Given the description of an element on the screen output the (x, y) to click on. 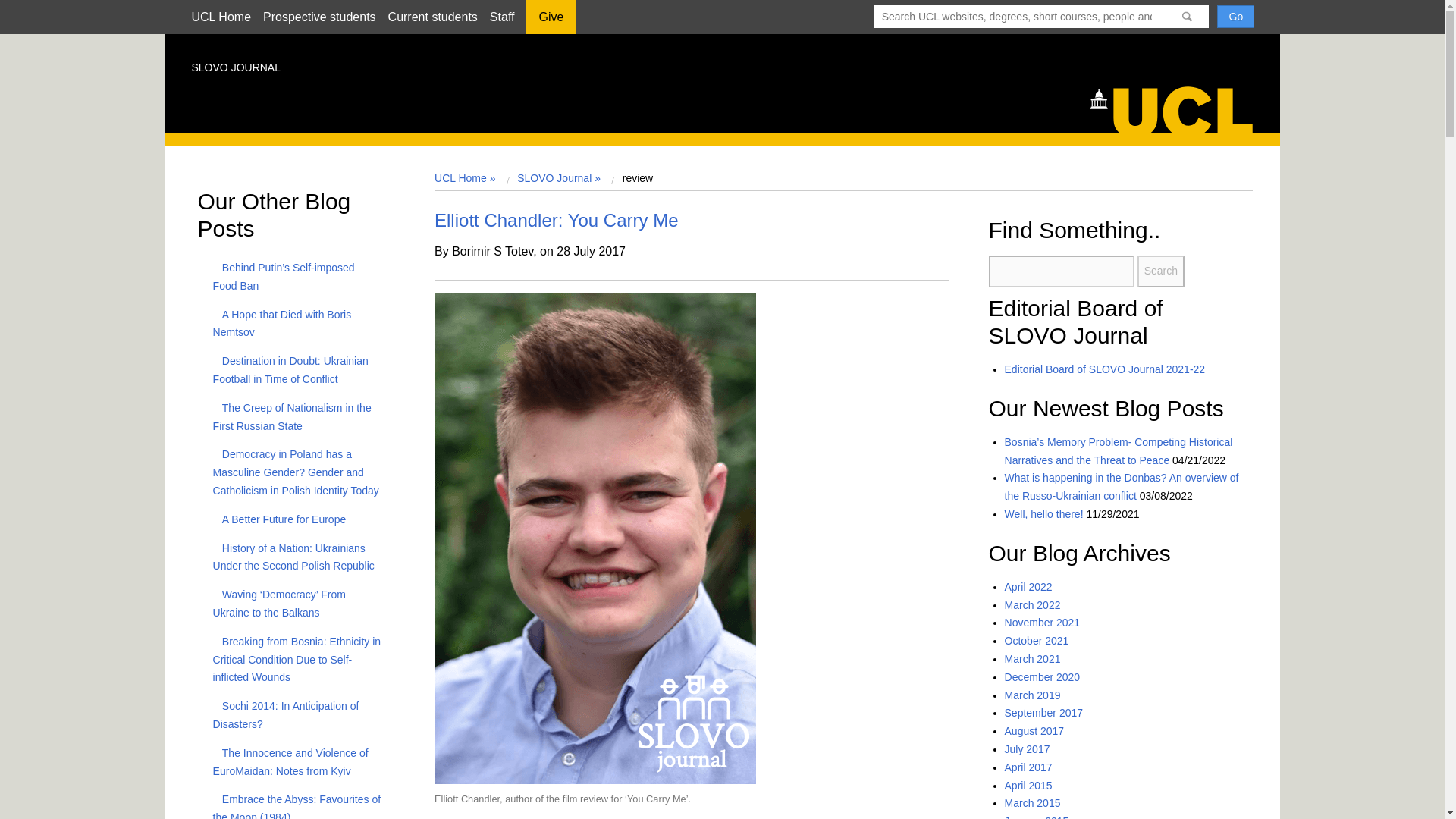
Go (1235, 15)
Prospective students (319, 16)
Current students (432, 16)
Give (550, 22)
Sochi 2014: In Anticipation of Disasters? (285, 715)
A Better Future for Europe (279, 519)
The Innocence and Violence of EuroMaidan: Notes from Kyiv (290, 761)
Home (1178, 108)
